Given the description of an element on the screen output the (x, y) to click on. 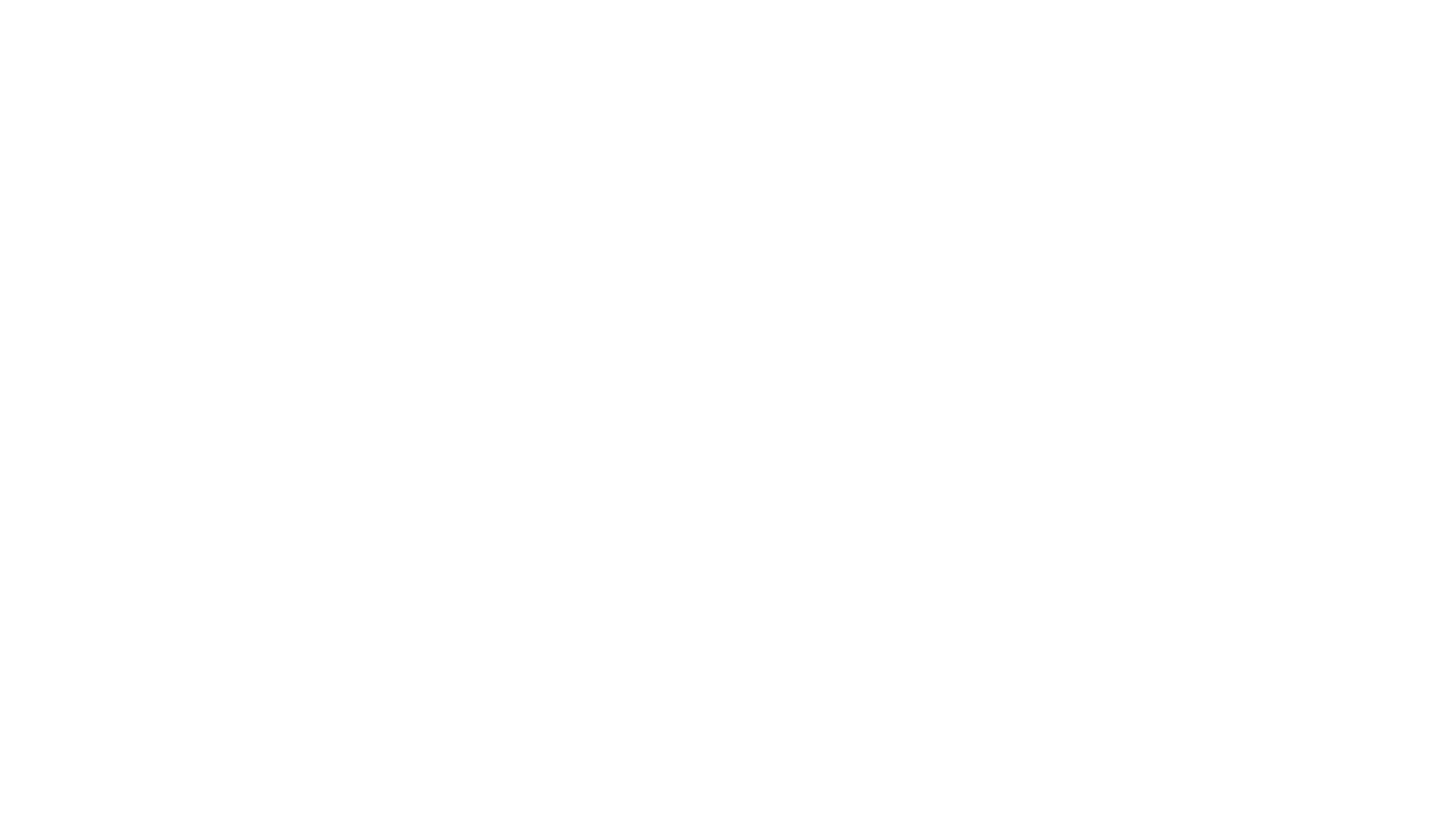
Cloudflare Element type: text (798, 799)
